Given the description of an element on the screen output the (x, y) to click on. 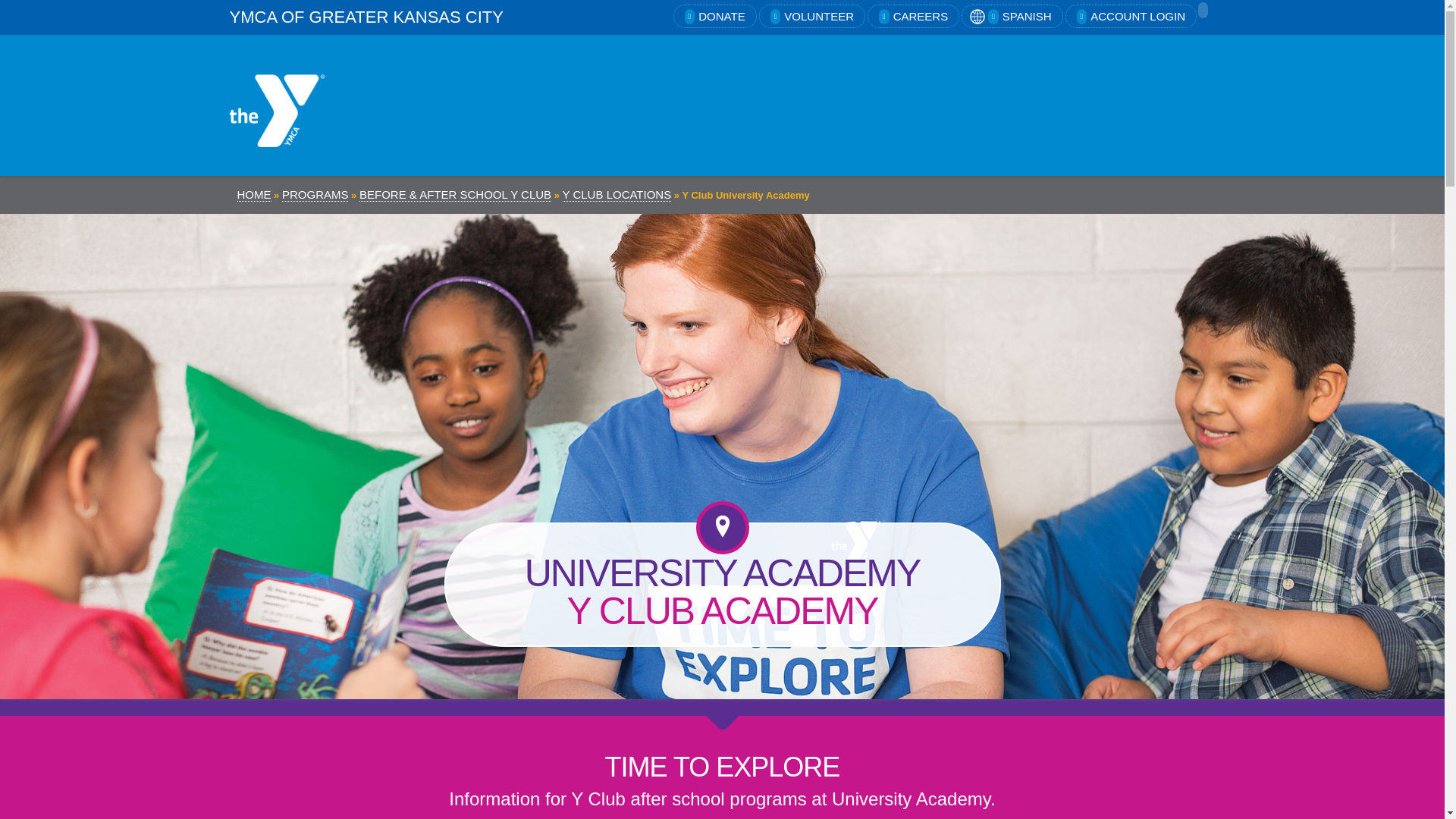
VOLUNTEER (811, 15)
CAREERS (913, 15)
DONATE (714, 15)
SPANISH (1011, 15)
ACCOUNT LOGIN (1130, 15)
